Given the description of an element on the screen output the (x, y) to click on. 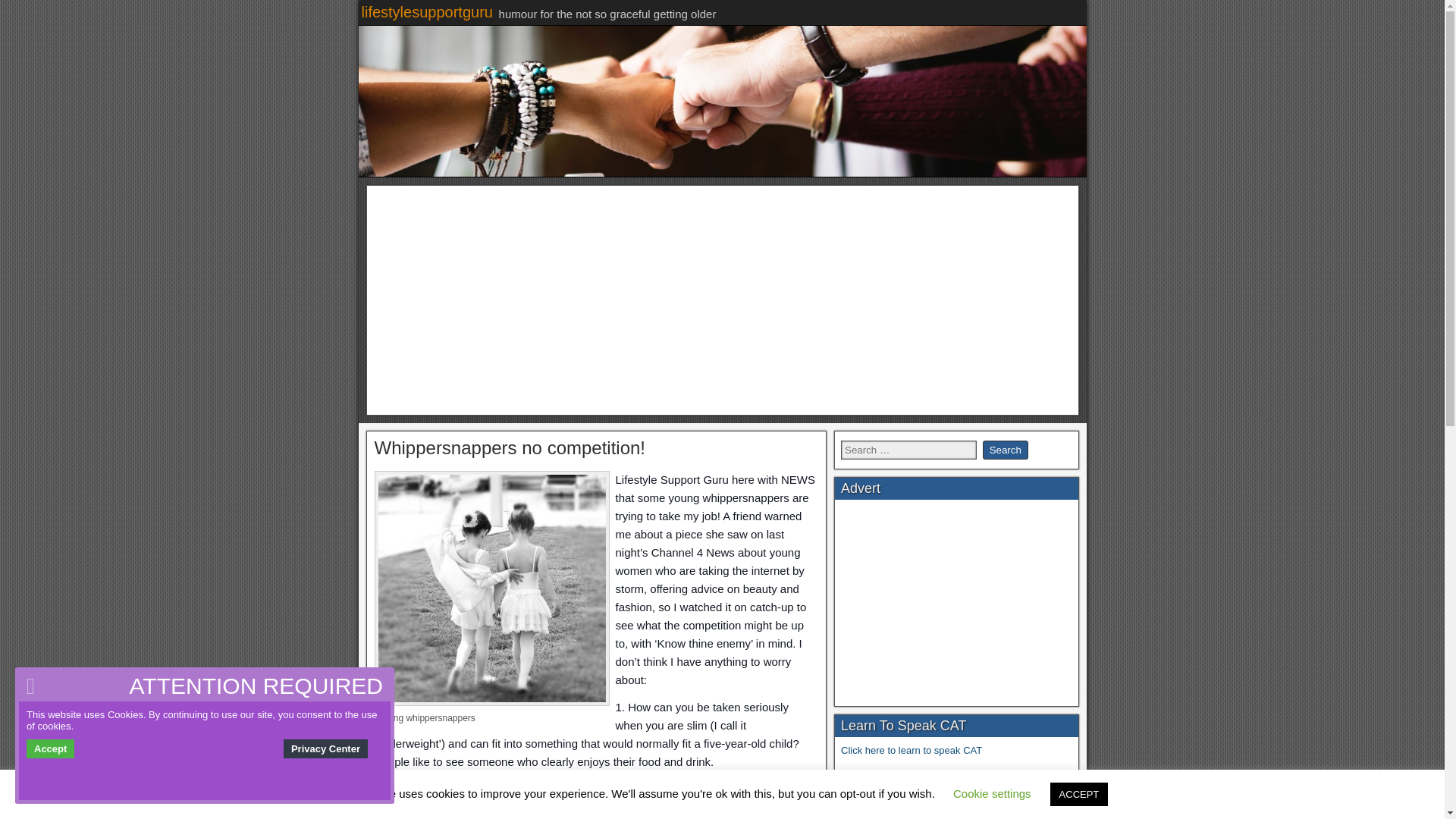
Advertisement (954, 600)
Click here to learn to speak CAT (911, 749)
Get your free book on talking to your cat (928, 774)
Whippersnappers no competition! (510, 446)
Search (1004, 448)
Search (1004, 448)
lifestylesupportguru (426, 12)
Search (1004, 448)
